Given the description of an element on the screen output the (x, y) to click on. 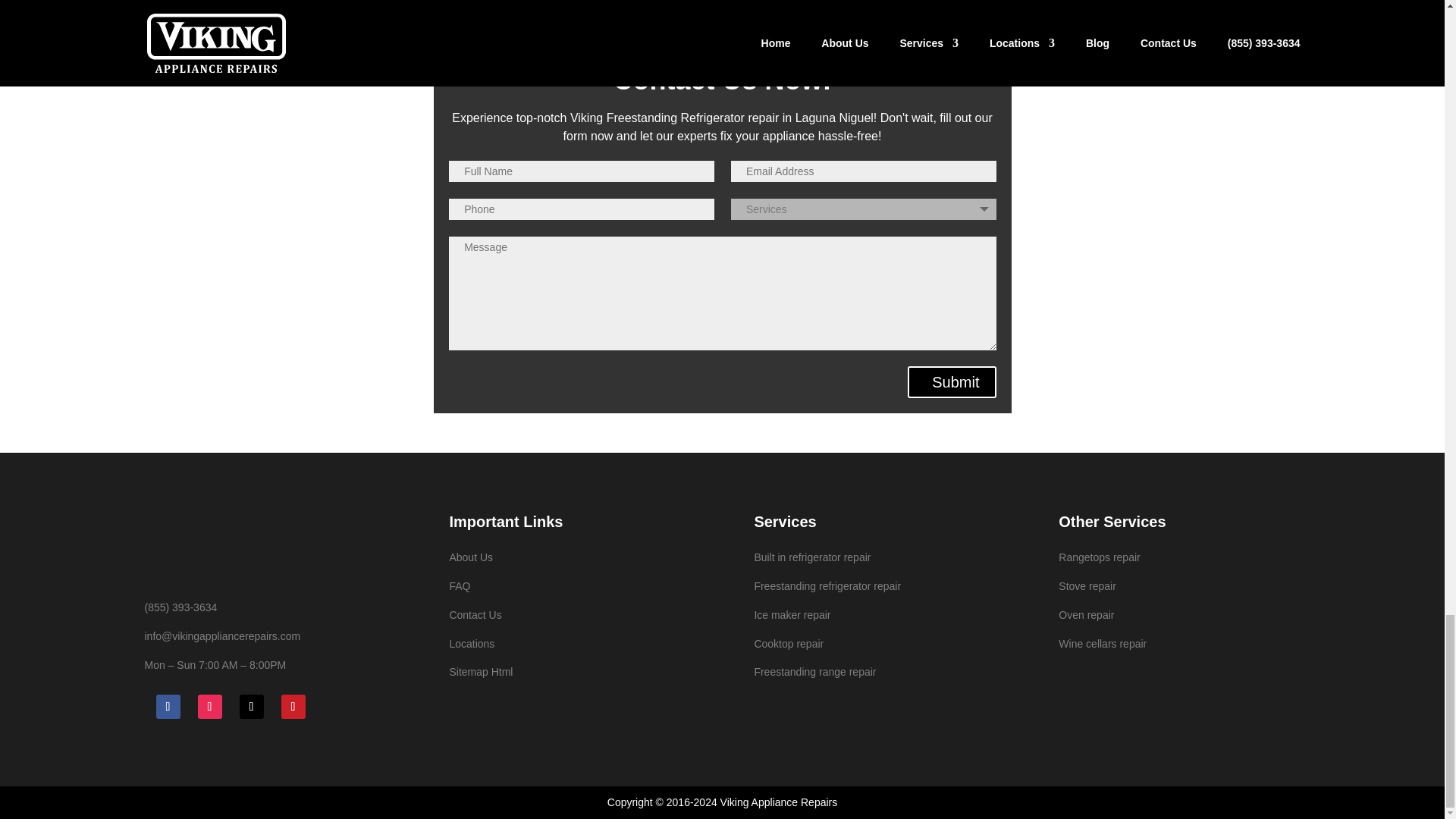
Submit (951, 382)
Follow on Pinterest (292, 706)
Sitemap Html (480, 671)
About Us (470, 557)
Follow on Facebook (167, 706)
Follow on Instagram (208, 706)
Locations (471, 644)
Follow on X (251, 706)
FAQ (459, 585)
Contact Us (474, 614)
